Given the description of an element on the screen output the (x, y) to click on. 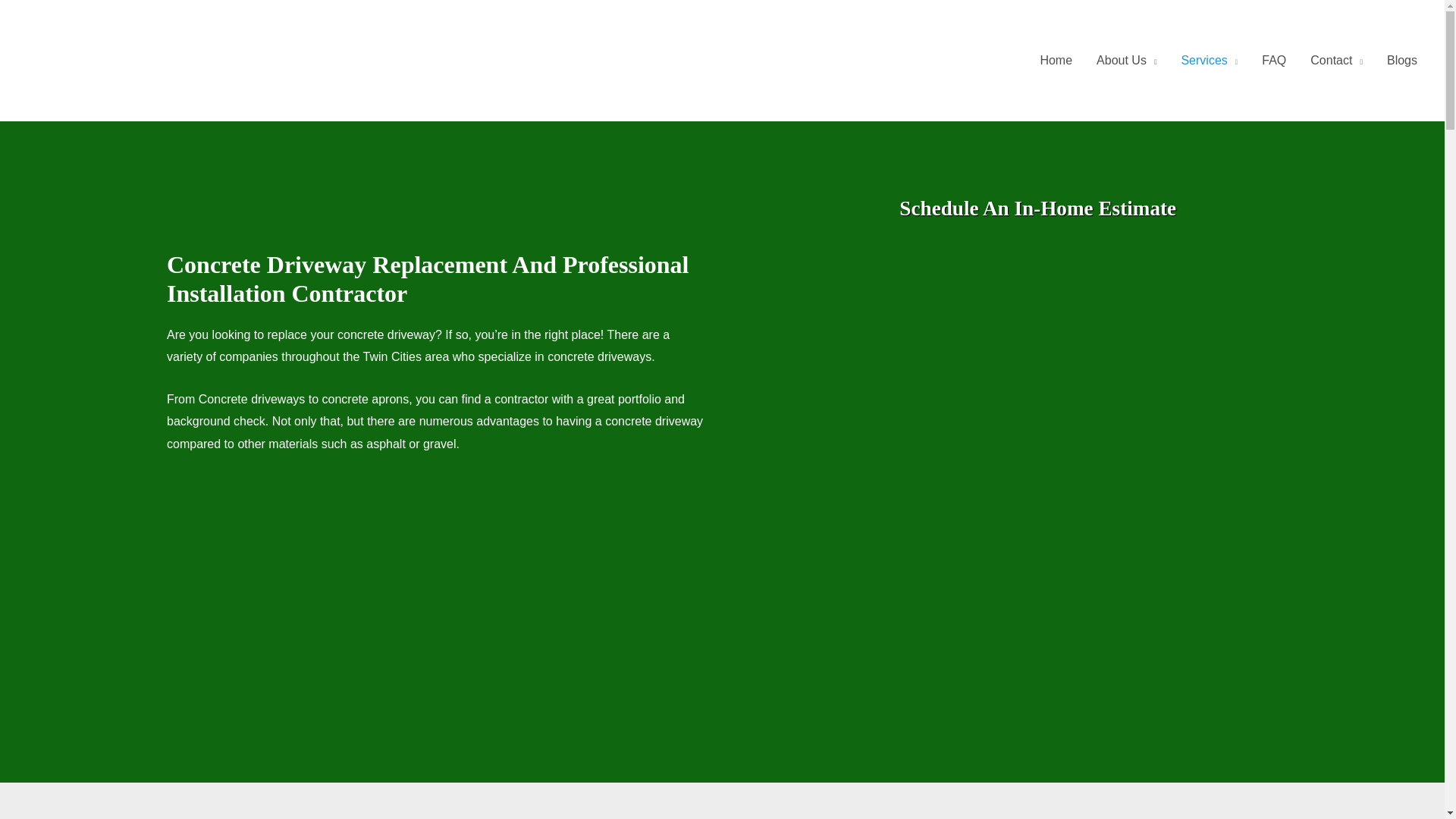
Home (1055, 60)
Services (1209, 60)
Contact (1336, 60)
Blogs (1401, 60)
About Us (1126, 60)
FAQ (1273, 60)
